Given the description of an element on the screen output the (x, y) to click on. 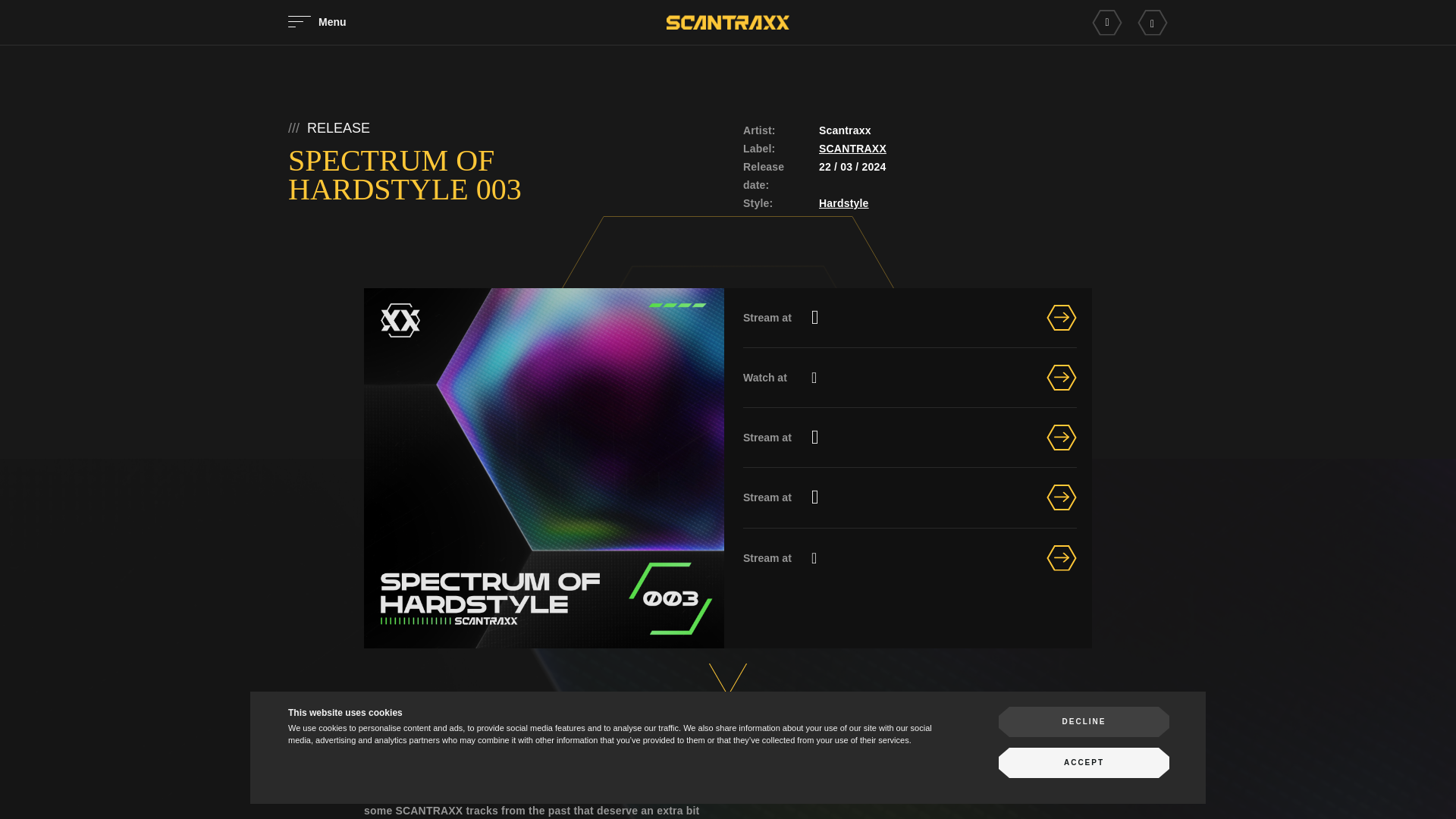
ACCEPT (1083, 762)
DECLINE (1083, 721)
